Given the description of an element on the screen output the (x, y) to click on. 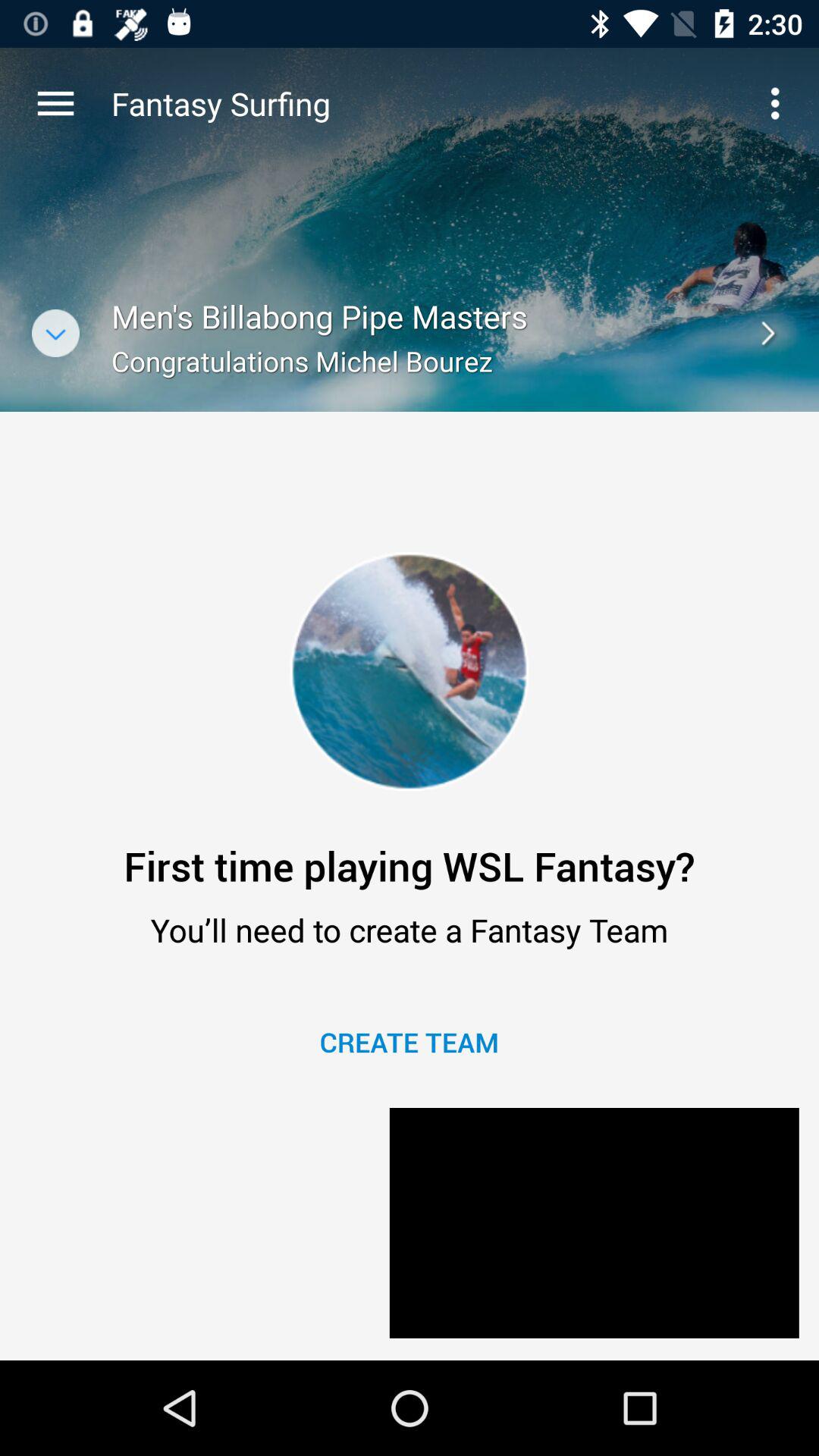
open list (55, 333)
